Given the description of an element on the screen output the (x, y) to click on. 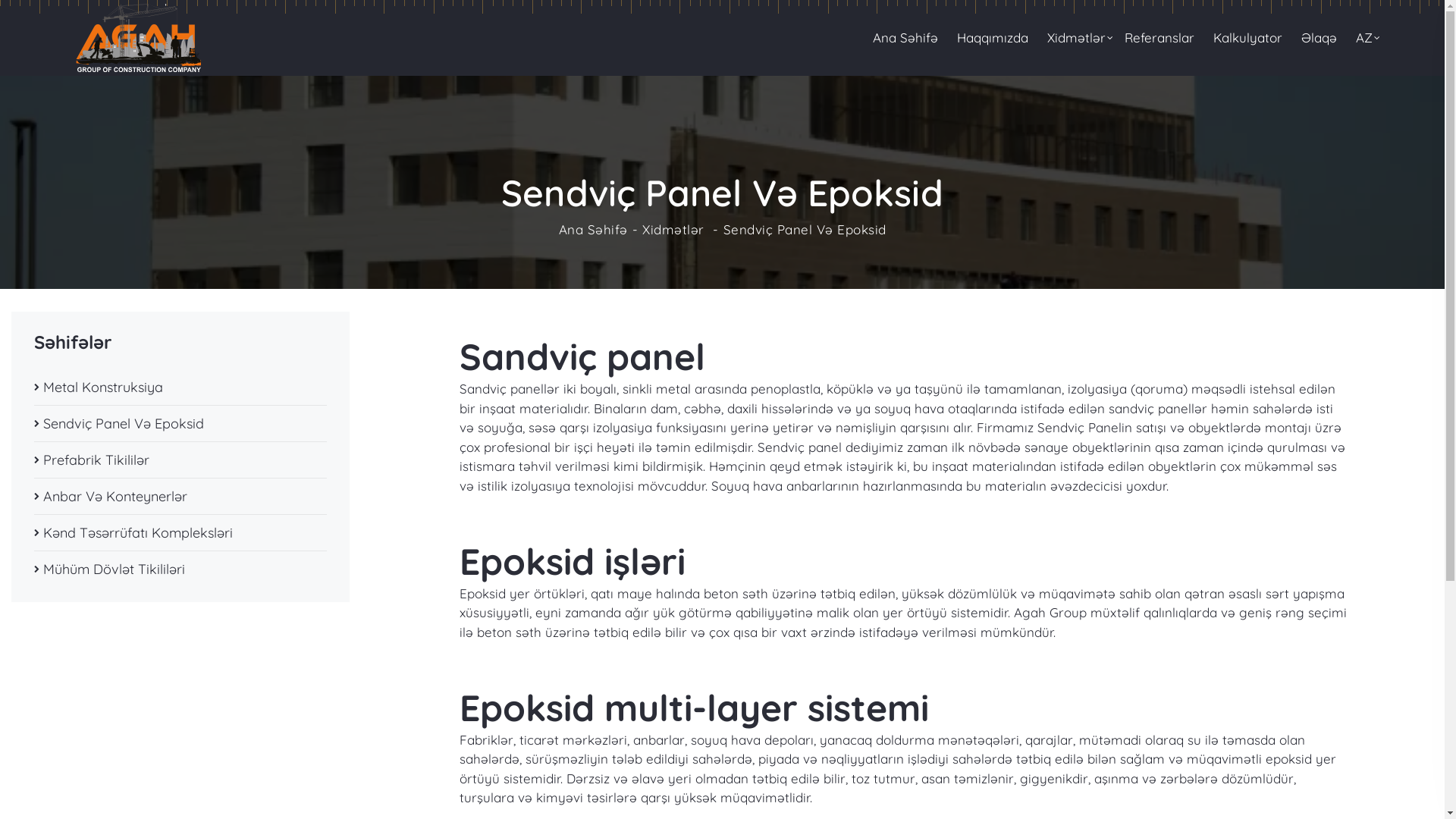
Referanslar Element type: text (1159, 37)
Kalkulyator Element type: text (1247, 37)
Metal Konstruksiya Element type: text (180, 386)
AZ Element type: text (1363, 37)
